Given the description of an element on the screen output the (x, y) to click on. 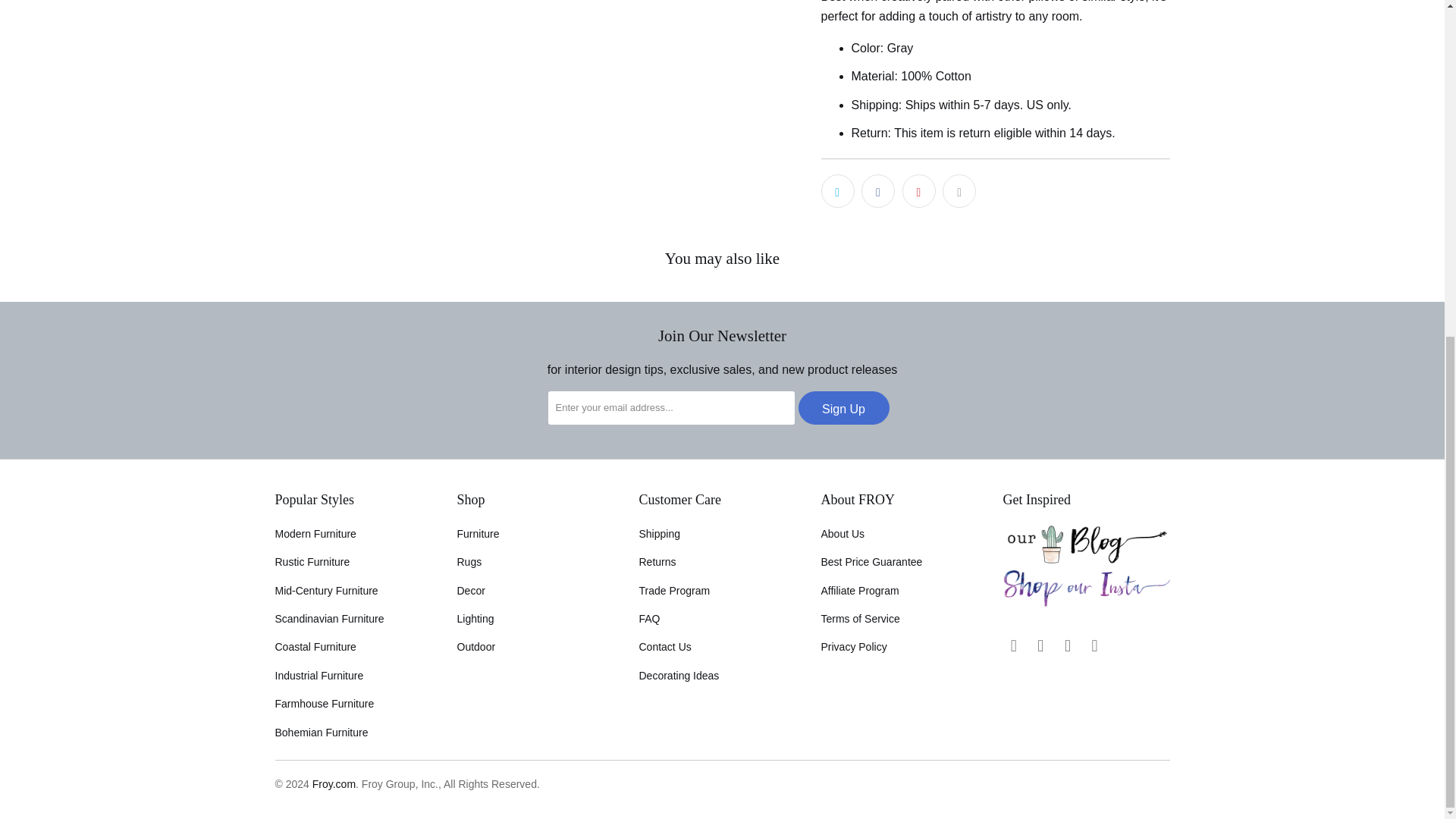
Share this on Facebook (878, 191)
Sign Up (842, 408)
Share this on Pinterest (919, 191)
Froy.com on Facebook (1014, 646)
Share this on Twitter (837, 191)
FROY Instagram Shop (1086, 603)
FROY Blog (1086, 559)
Froy.com on Instagram (1040, 646)
Email this to a friend (958, 191)
